Given the description of an element on the screen output the (x, y) to click on. 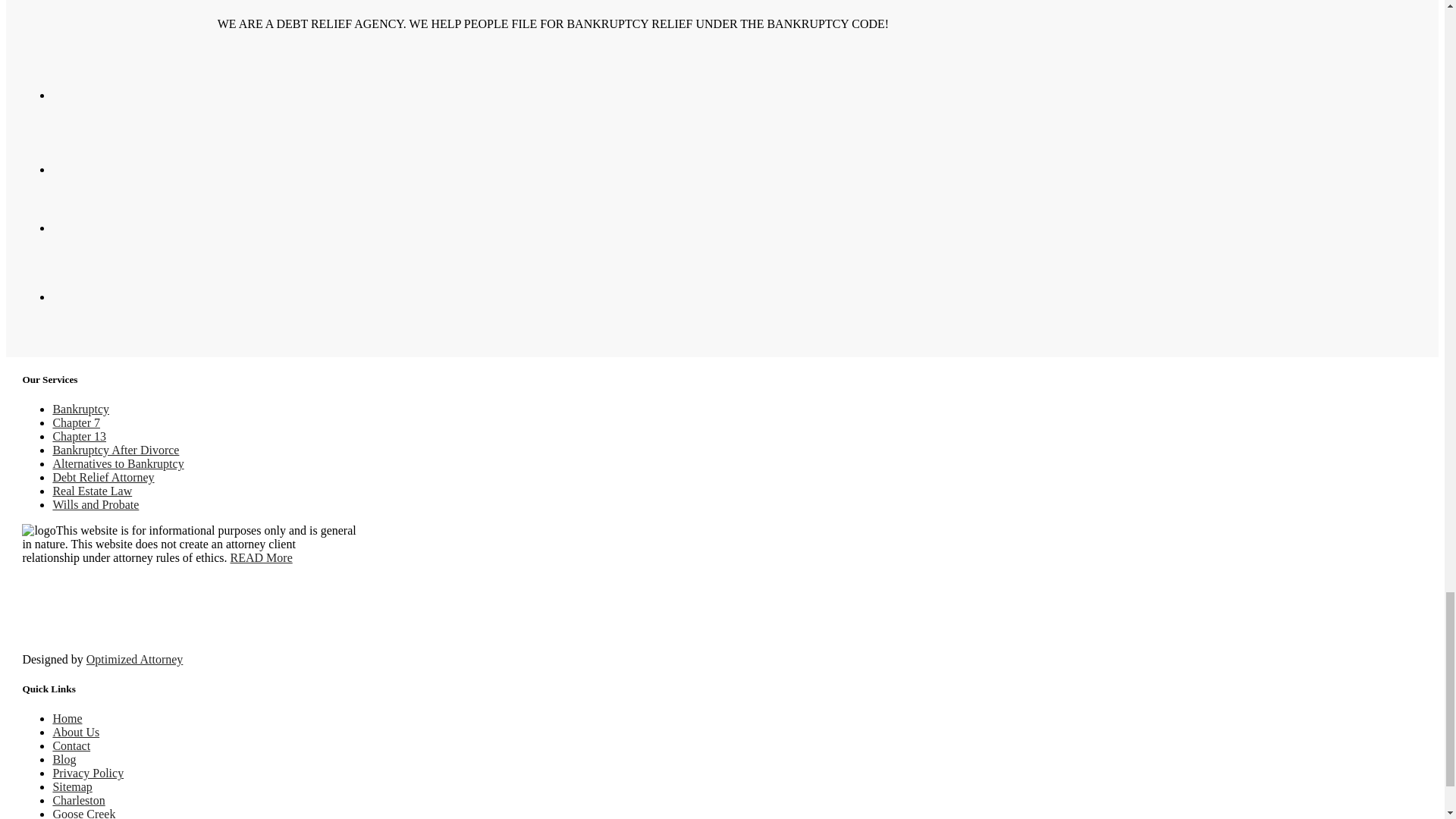
Chapter 13 (79, 436)
Debt Relief Attorney (103, 477)
Bankruptcy (80, 408)
Real Estate Law (92, 490)
Alternatives to Bankruptcy (117, 463)
Bankruptcy After Divorce (115, 449)
Chapter 7 (76, 422)
